Given the description of an element on the screen output the (x, y) to click on. 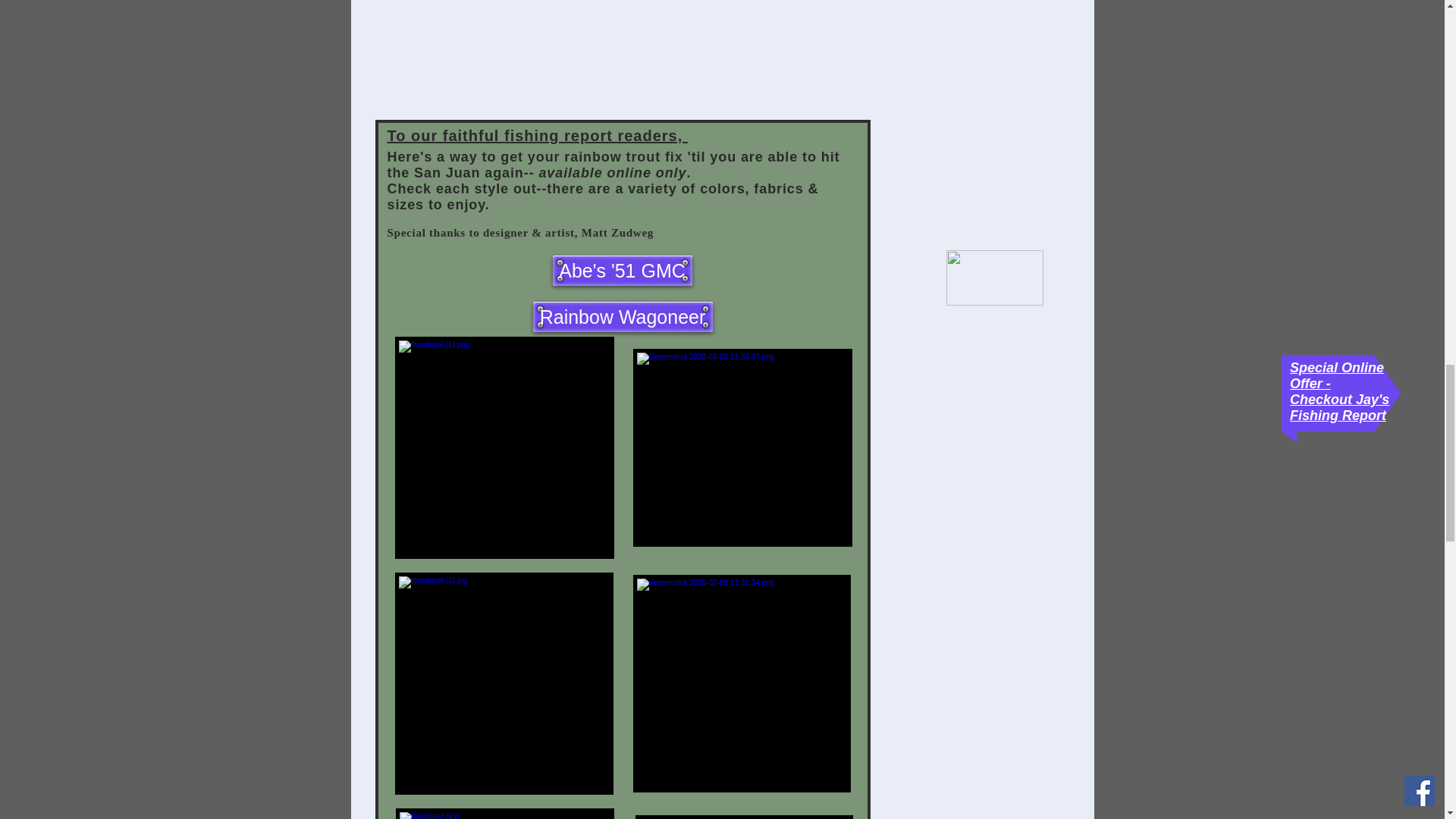
Rainbow Wagoneer (621, 317)
Abe's '51 GMC (621, 270)
